Given the description of an element on the screen output the (x, y) to click on. 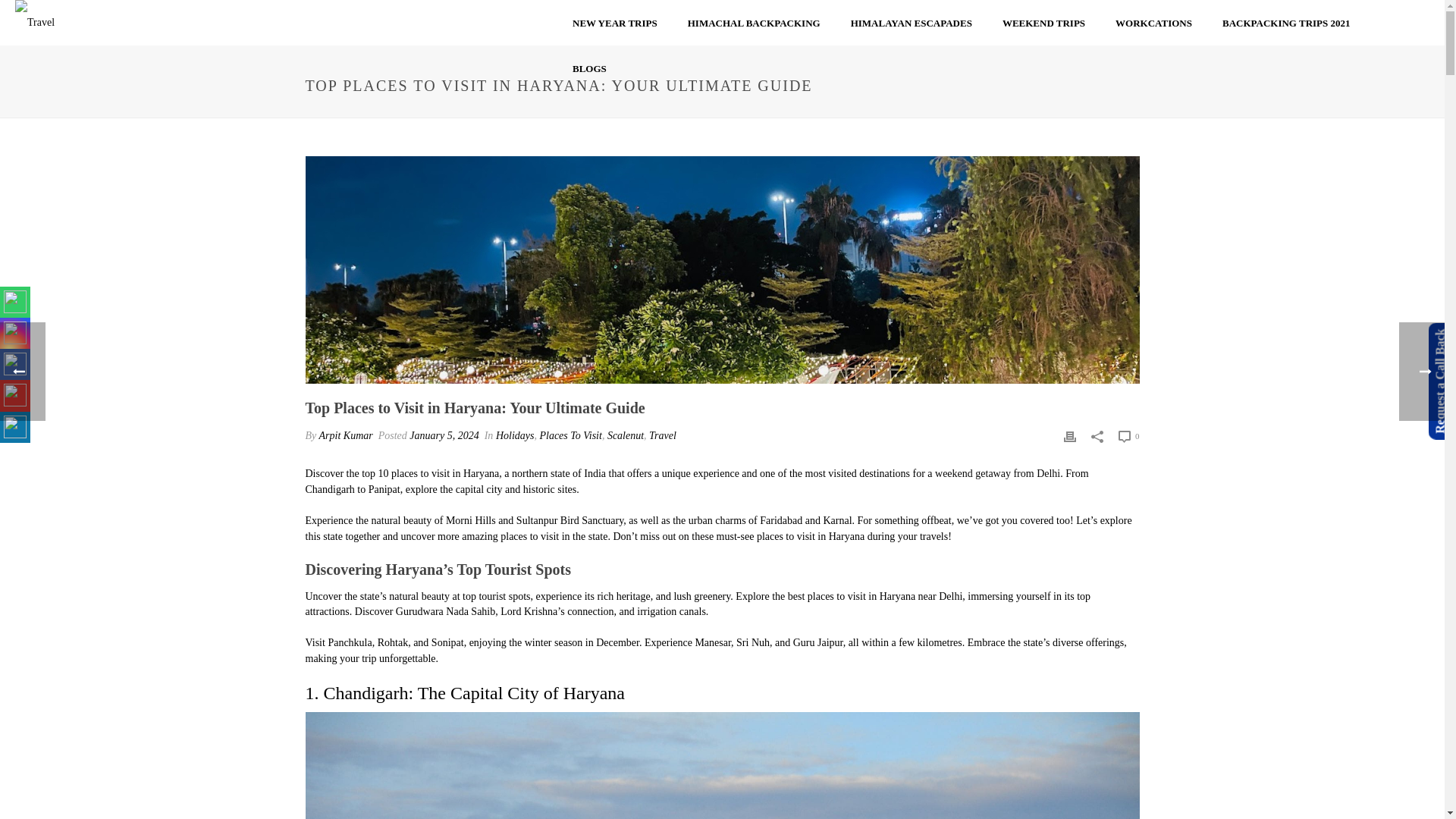
HIMACHAL BACKPACKING (753, 23)
WEEKEND TRIPS (1043, 23)
BLOGS (589, 68)
Travel Community (39, 22)
WORKCATIONS (1153, 23)
Posts by Arpit Kumar (345, 435)
WORKCATIONS (1153, 23)
HIMACHAL BACKPACKING (753, 23)
HIMALAYAN ESCAPADES (911, 23)
BLOGS (589, 68)
WEEKEND TRIPS (1043, 23)
NEW YEAR TRIPS (614, 23)
HIMALAYAN ESCAPADES (911, 23)
